Given the description of an element on the screen output the (x, y) to click on. 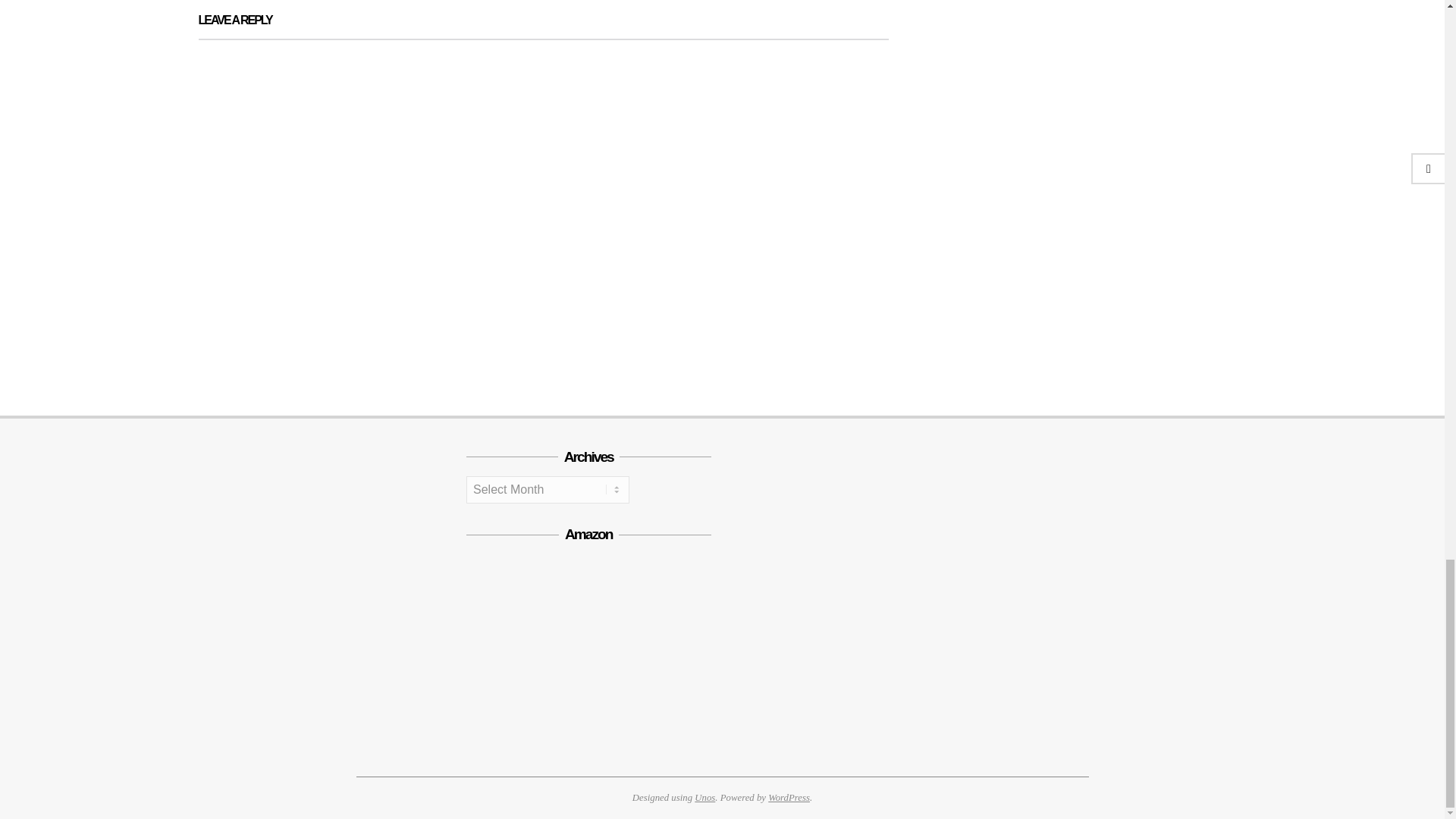
Unos (704, 797)
WordPress (788, 797)
Unos WordPress Theme (704, 797)
